Given the description of an element on the screen output the (x, y) to click on. 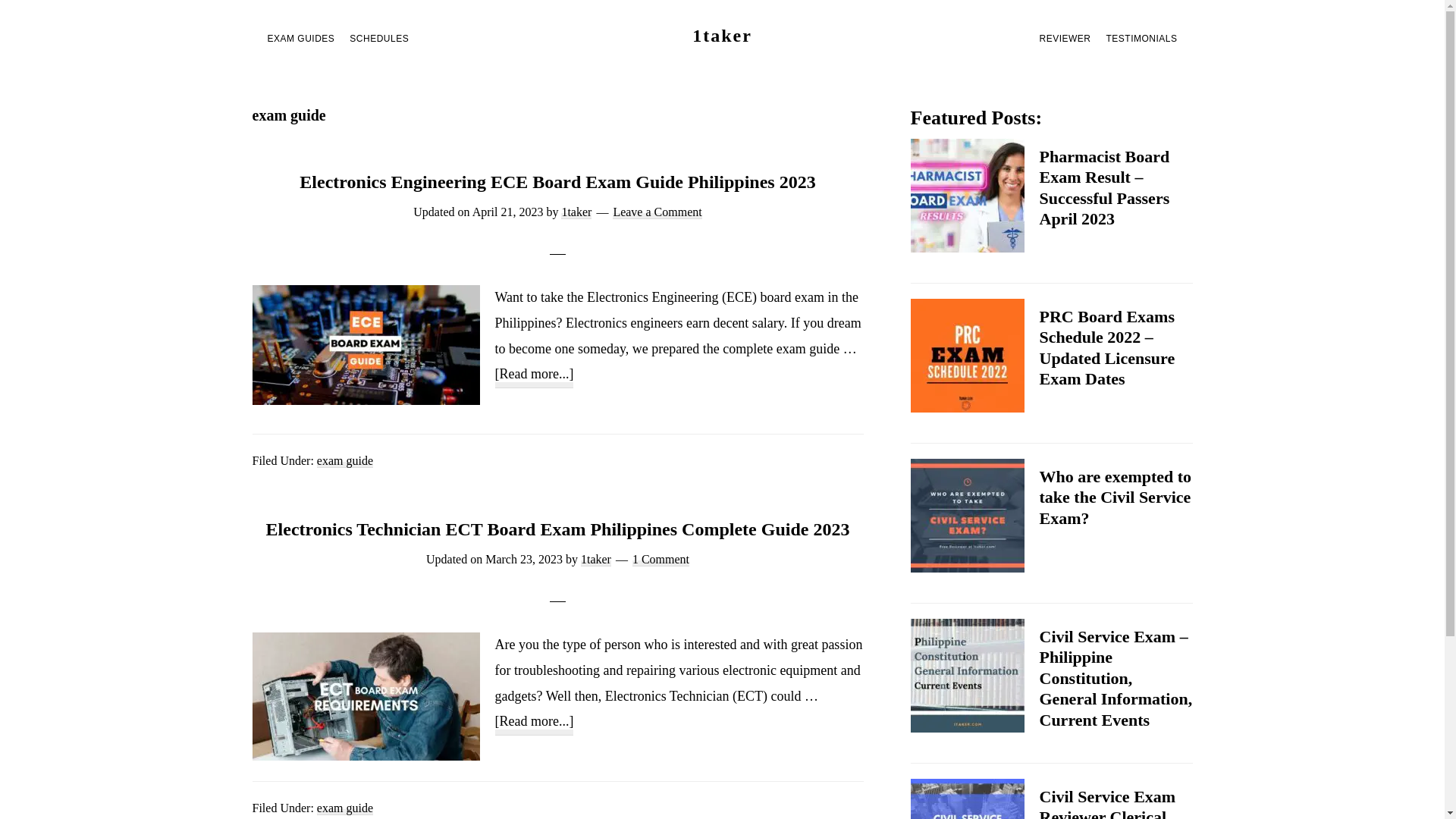
Leave a Comment Element type: text (656, 212)
EXAM GUIDES Element type: text (300, 37)
Skip to primary navigation Element type: text (0, 0)
1taker Element type: text (595, 559)
REVIEWER Element type: text (1064, 37)
1taker Element type: text (576, 212)
exam guide Element type: text (344, 808)
1taker Element type: text (722, 35)
Who are exempted to take the Civil Service Exam? Element type: text (1114, 497)
SCHEDULES Element type: text (379, 37)
1 Comment Element type: text (660, 559)
TESTIMONIALS Element type: text (1141, 37)
exam guide Element type: text (344, 460)
